Given the description of an element on the screen output the (x, y) to click on. 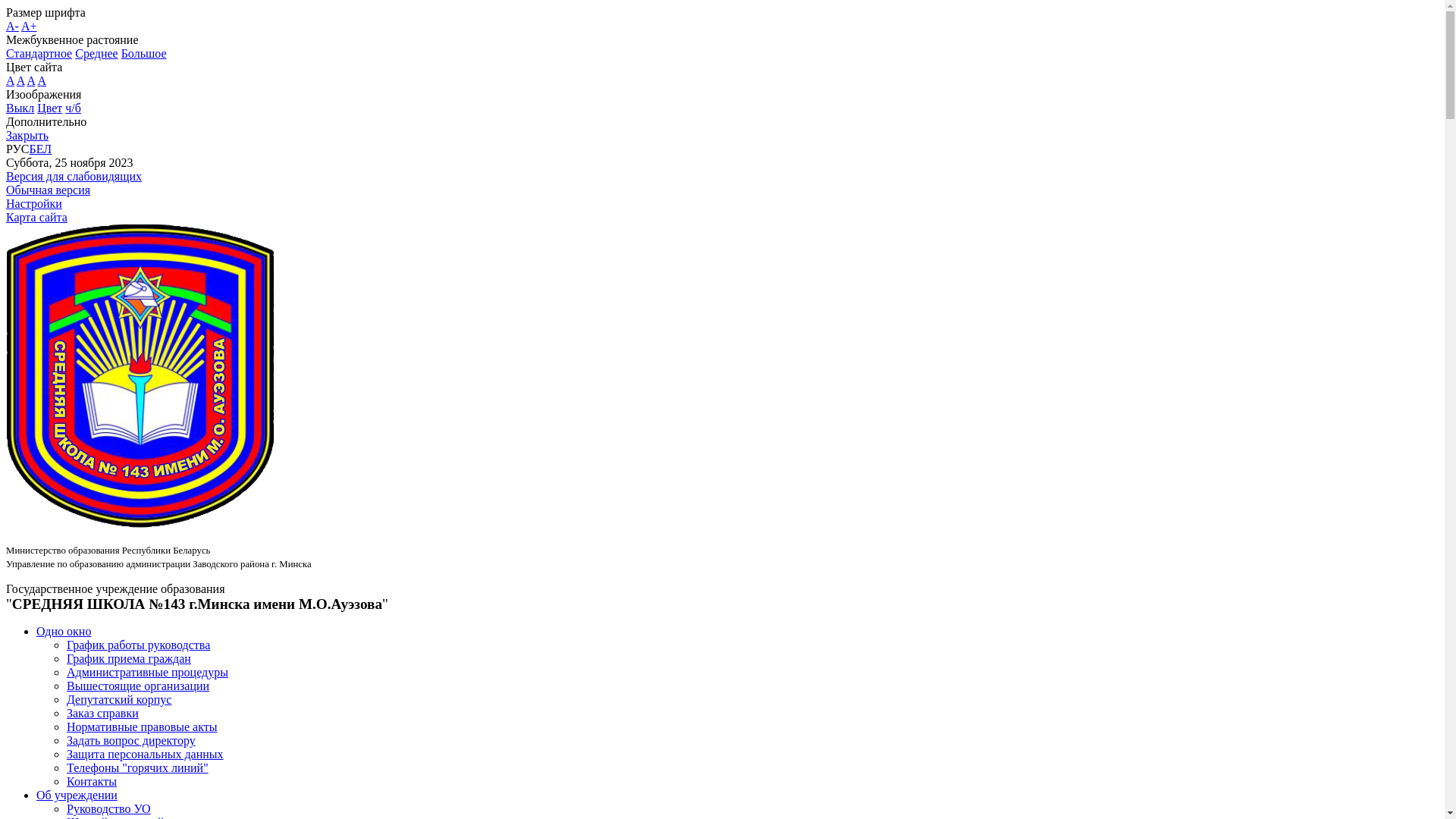
A Element type: text (20, 80)
A Element type: text (41, 80)
A Element type: text (31, 80)
A Element type: text (10, 80)
A+ Element type: text (29, 25)
A- Element type: text (12, 25)
